Given the description of an element on the screen output the (x, y) to click on. 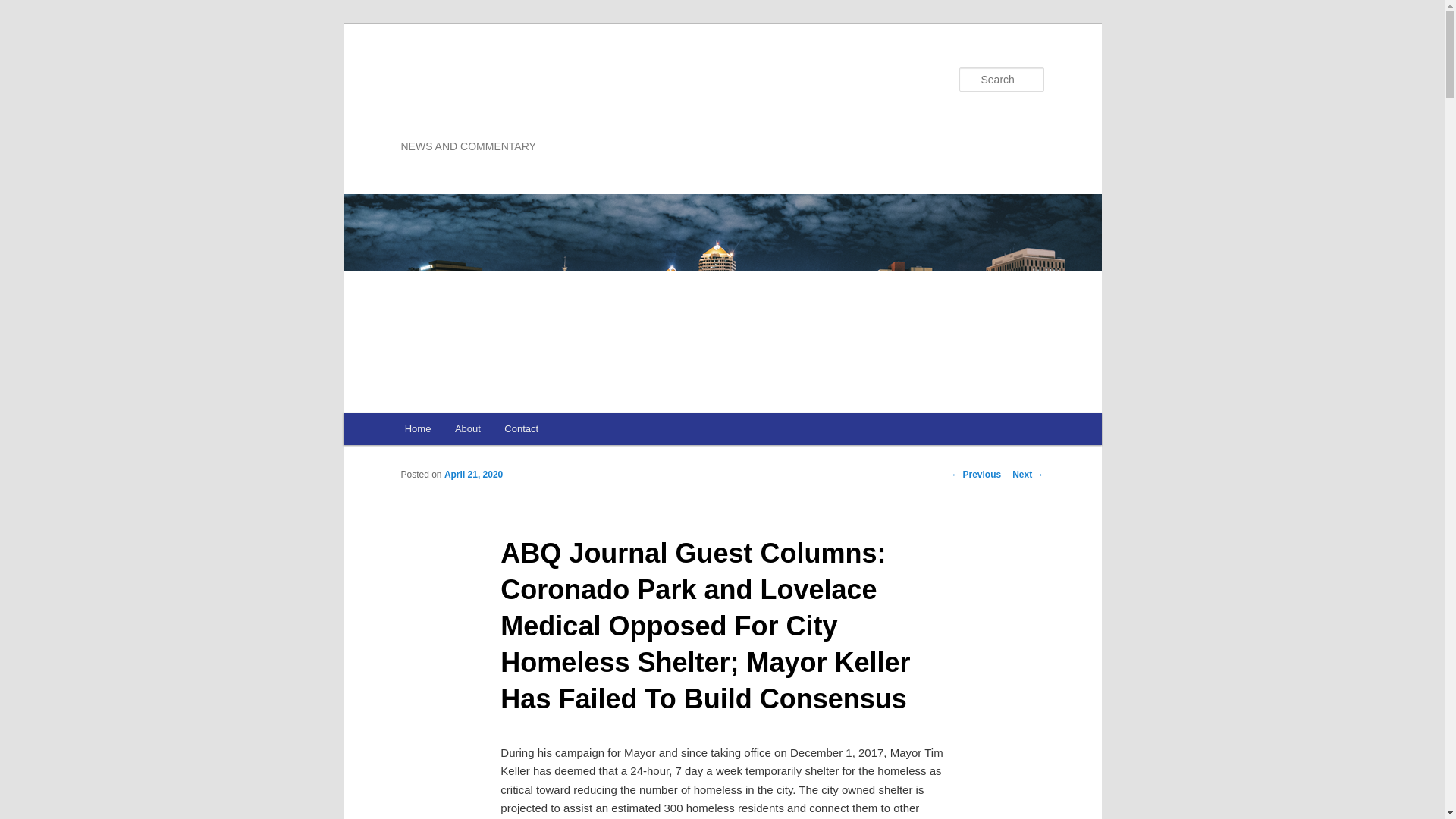
Search (24, 8)
April 21, 2020 (473, 474)
Home (417, 428)
2:47 pm (473, 474)
About (467, 428)
Contact (521, 428)
